Given the description of an element on the screen output the (x, y) to click on. 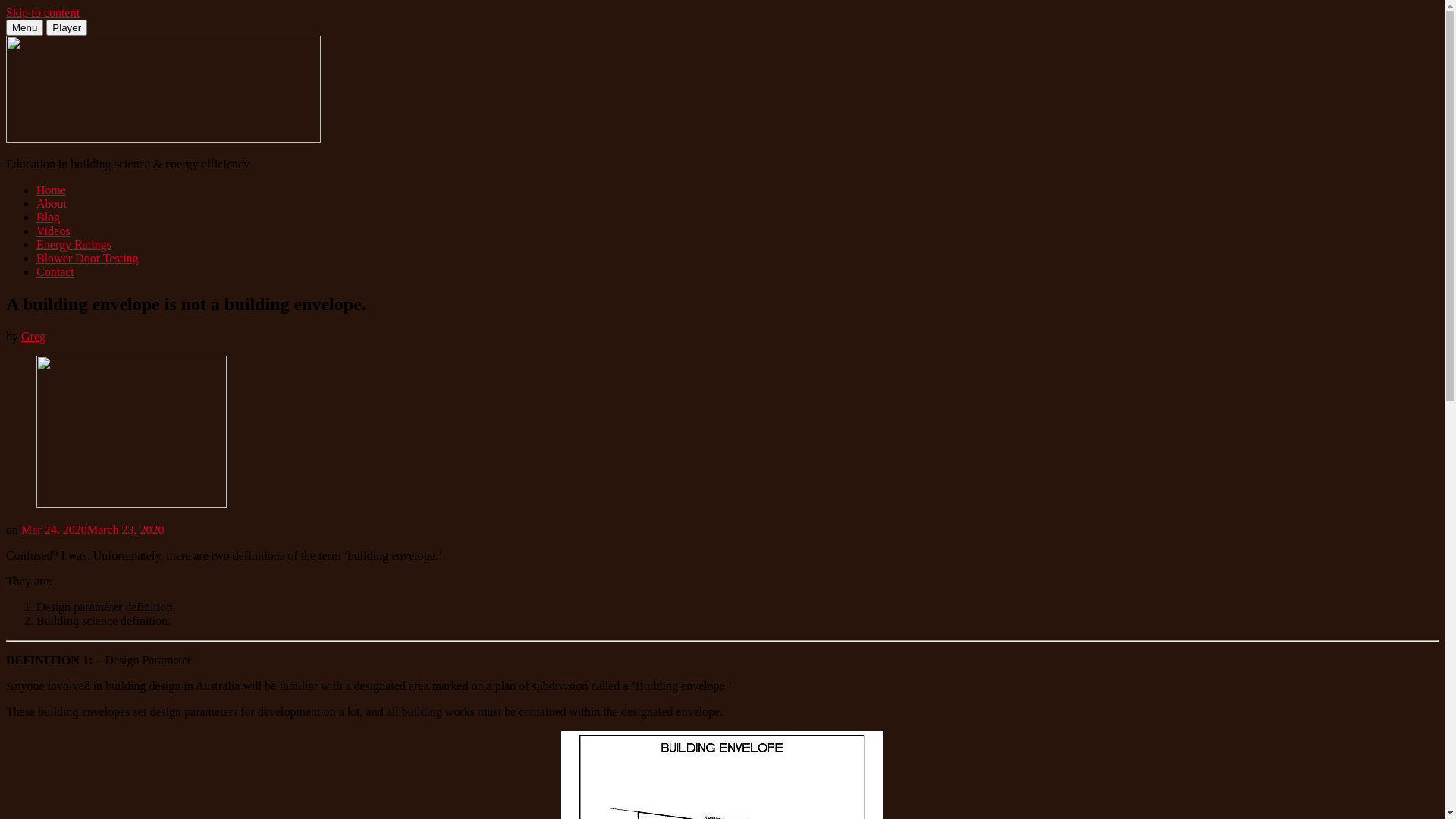
About Element type: text (51, 203)
Blower Door Testing Element type: text (87, 257)
Greg Element type: text (33, 335)
Videos Element type: text (52, 230)
Menu Element type: text (24, 27)
Player Element type: text (66, 27)
Skip to content Element type: text (42, 12)
Blog Element type: text (47, 216)
Home Element type: text (50, 189)
Contact Element type: text (55, 271)
Energy Ratings Element type: text (73, 244)
Mar 24, 2020March 23, 2020 Element type: text (92, 529)
